Given the description of an element on the screen output the (x, y) to click on. 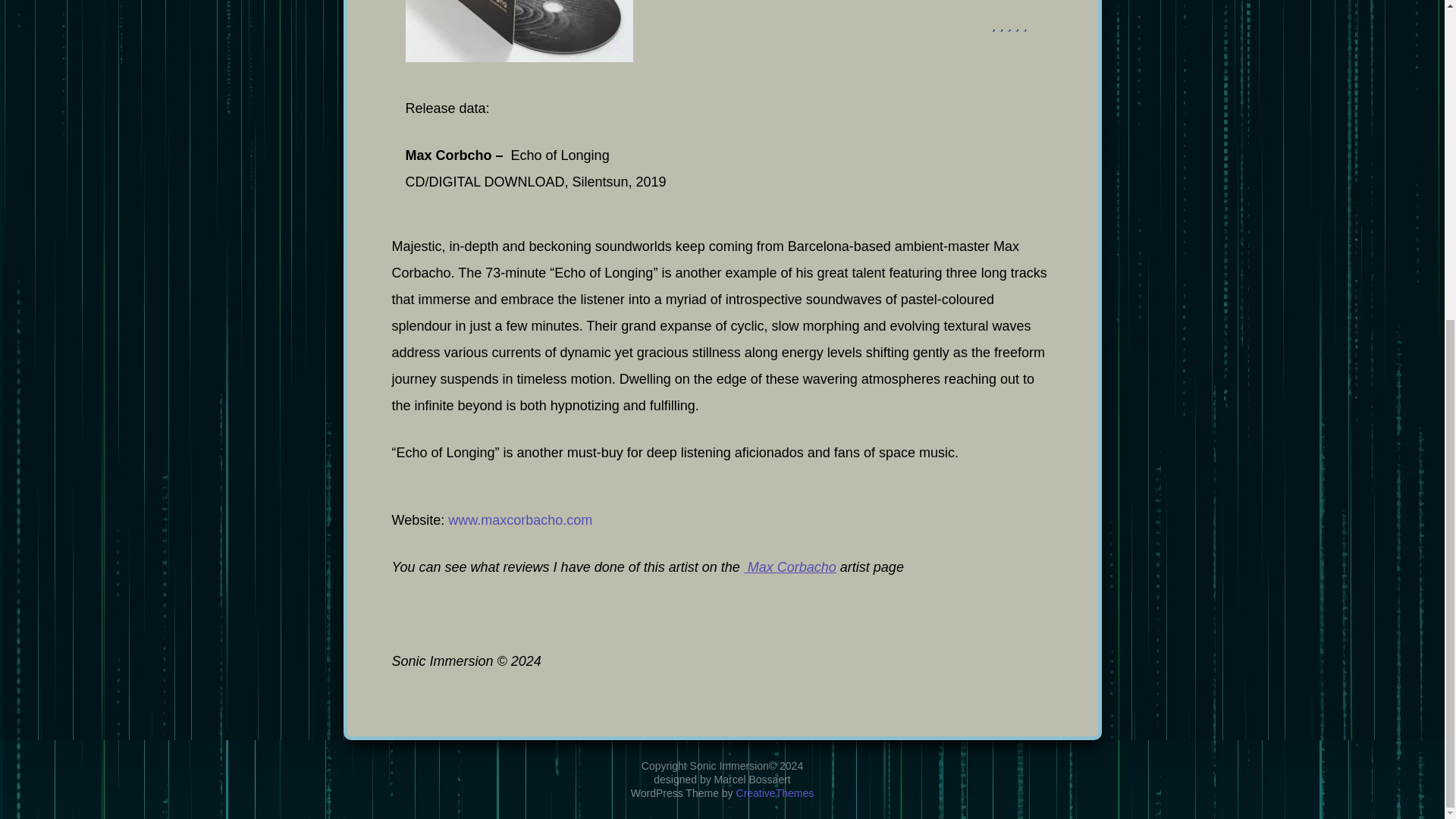
 Max Corbacho (789, 566)
CreativeThemes (774, 275)
www.maxcorbacho.com (520, 519)
